Given the description of an element on the screen output the (x, y) to click on. 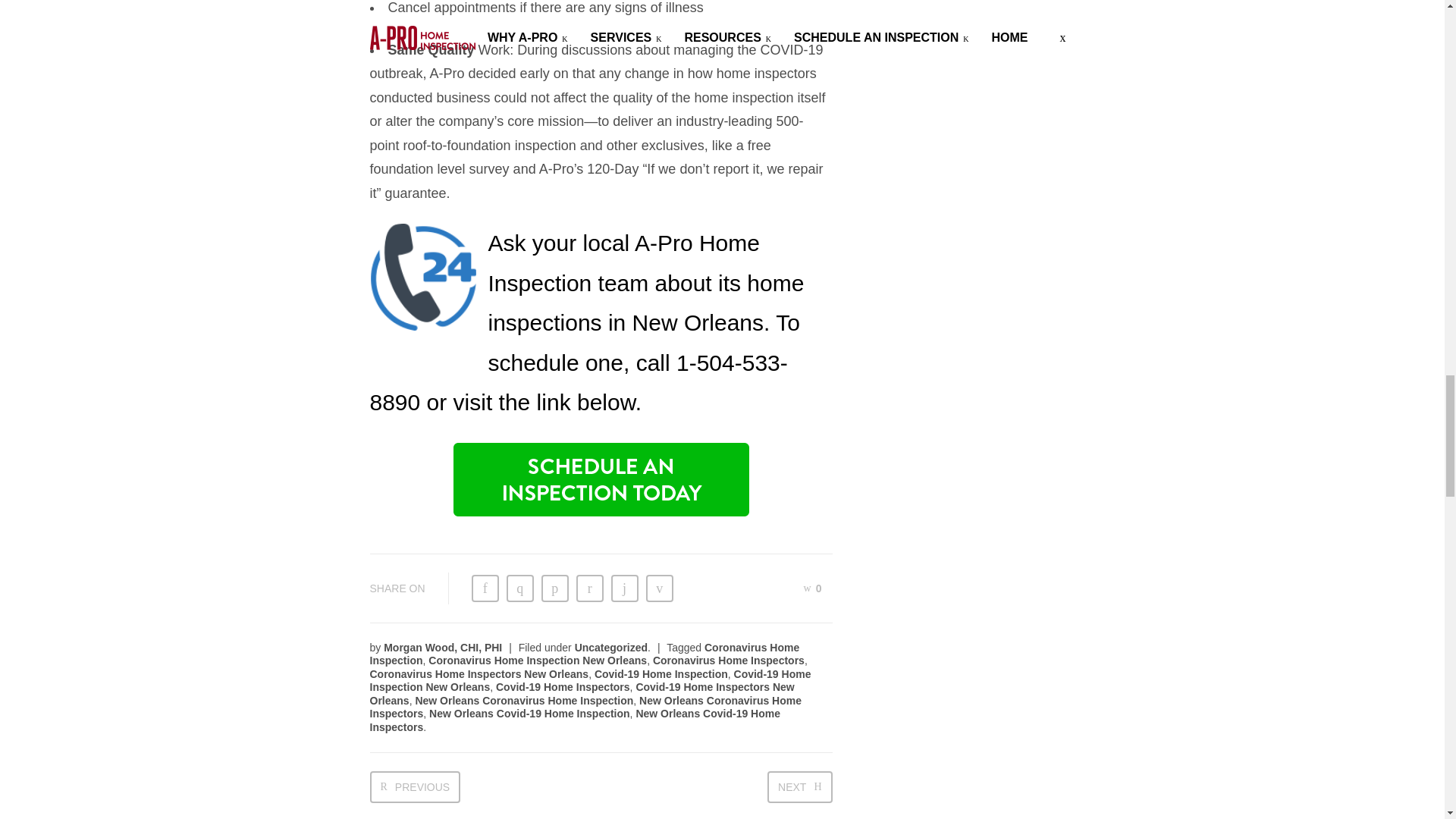
Coronavirus Home Inspection (584, 654)
Uncategorized (611, 647)
Posts by Morgan Wood, CHI, PHI (443, 647)
0 (812, 588)
Morgan Wood, CHI, PHI (443, 647)
Coronavirus Home Inspectors New Orleans (479, 674)
Coronavirus Home Inspectors (728, 660)
Coronavirus Home Inspection New Orleans (537, 660)
